Given the description of an element on the screen output the (x, y) to click on. 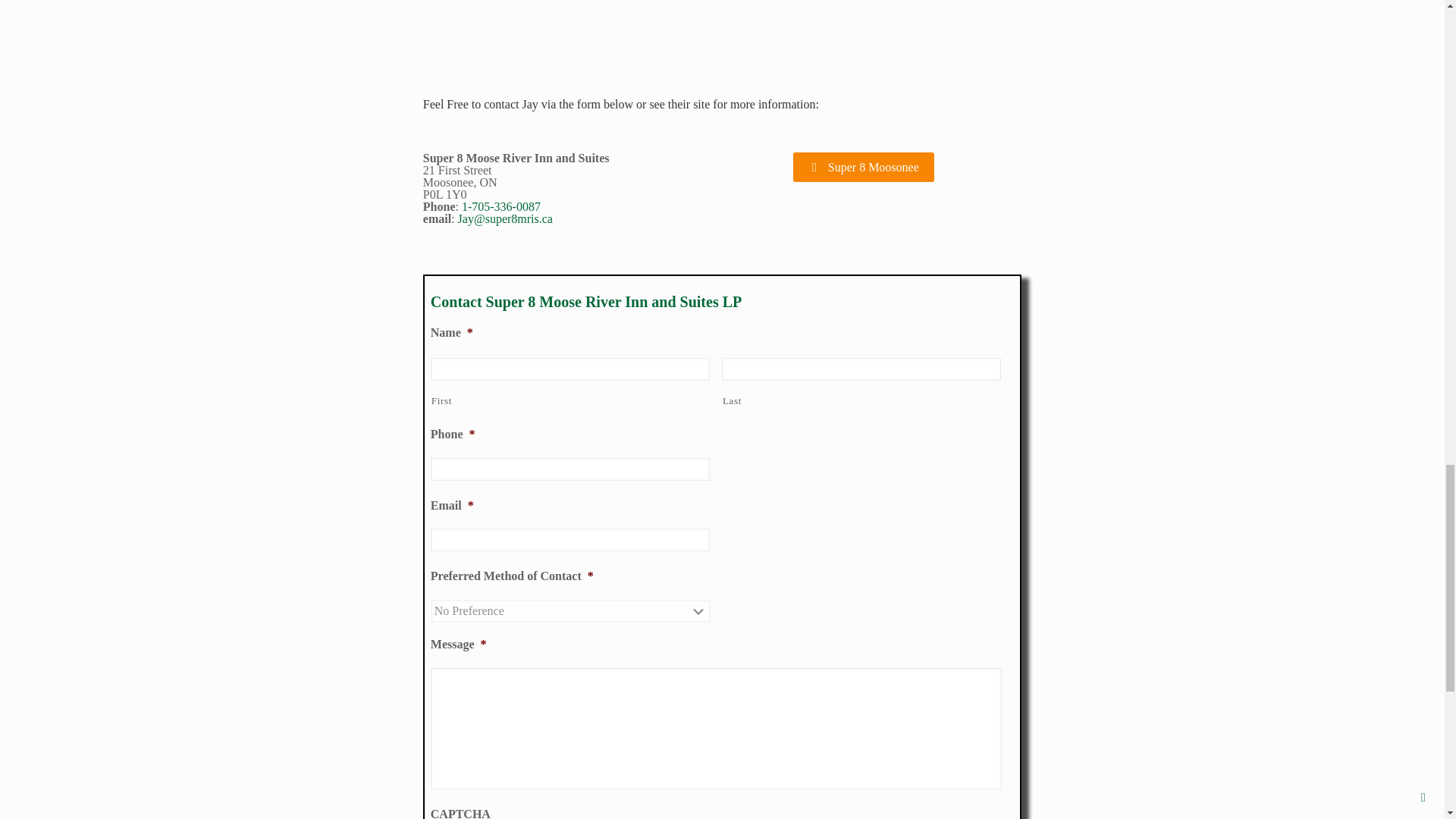
1-705-336-0087 (500, 205)
Super 8 Moosonee (863, 166)
